Given the description of an element on the screen output the (x, y) to click on. 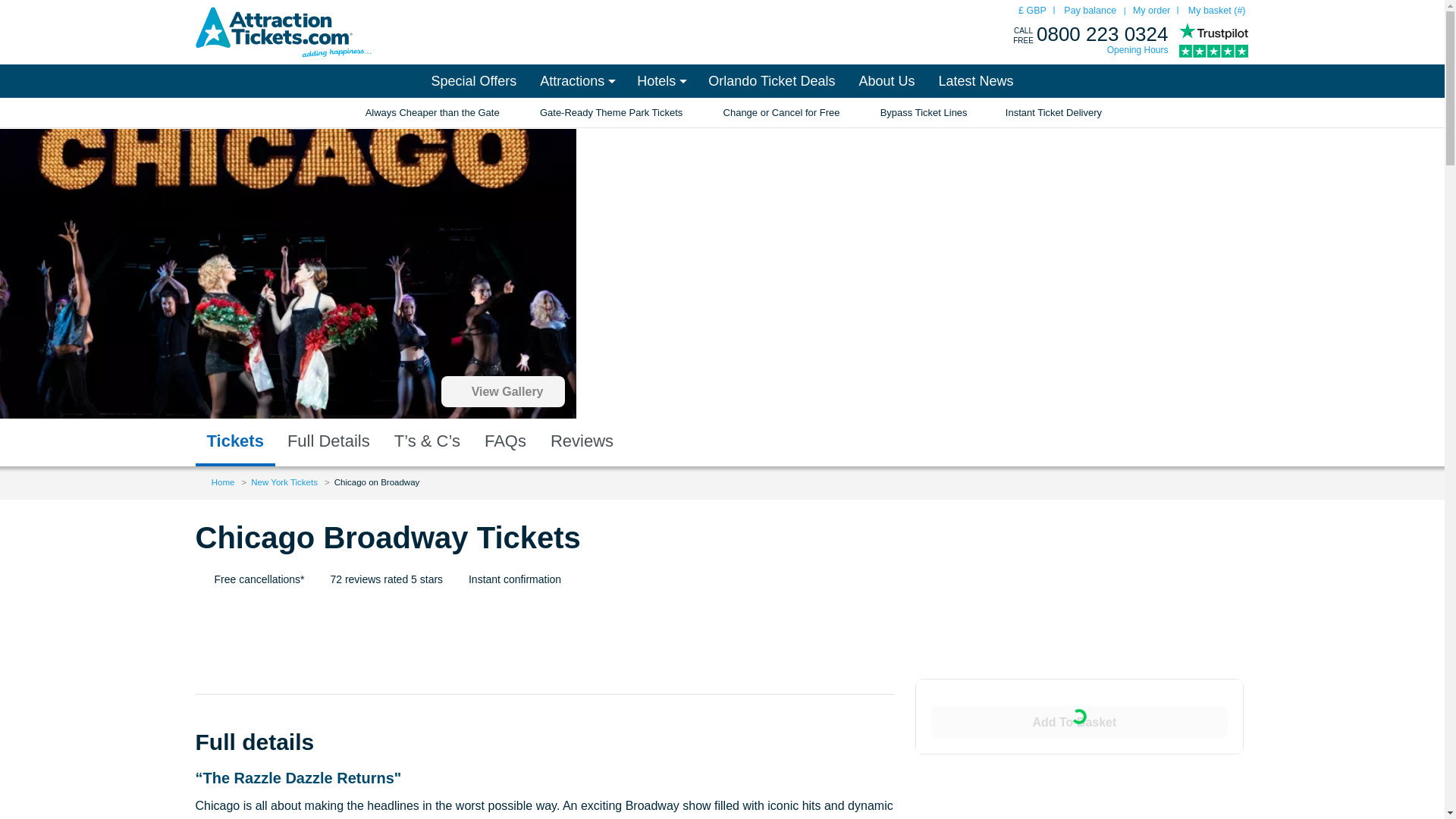
Latest News (975, 80)
Hotels (660, 80)
Orlando Ticket Deals (771, 80)
Special Offers (472, 80)
Attractions (576, 80)
About Us (886, 80)
0800 223 0324 (1102, 34)
